Given the description of an element on the screen output the (x, y) to click on. 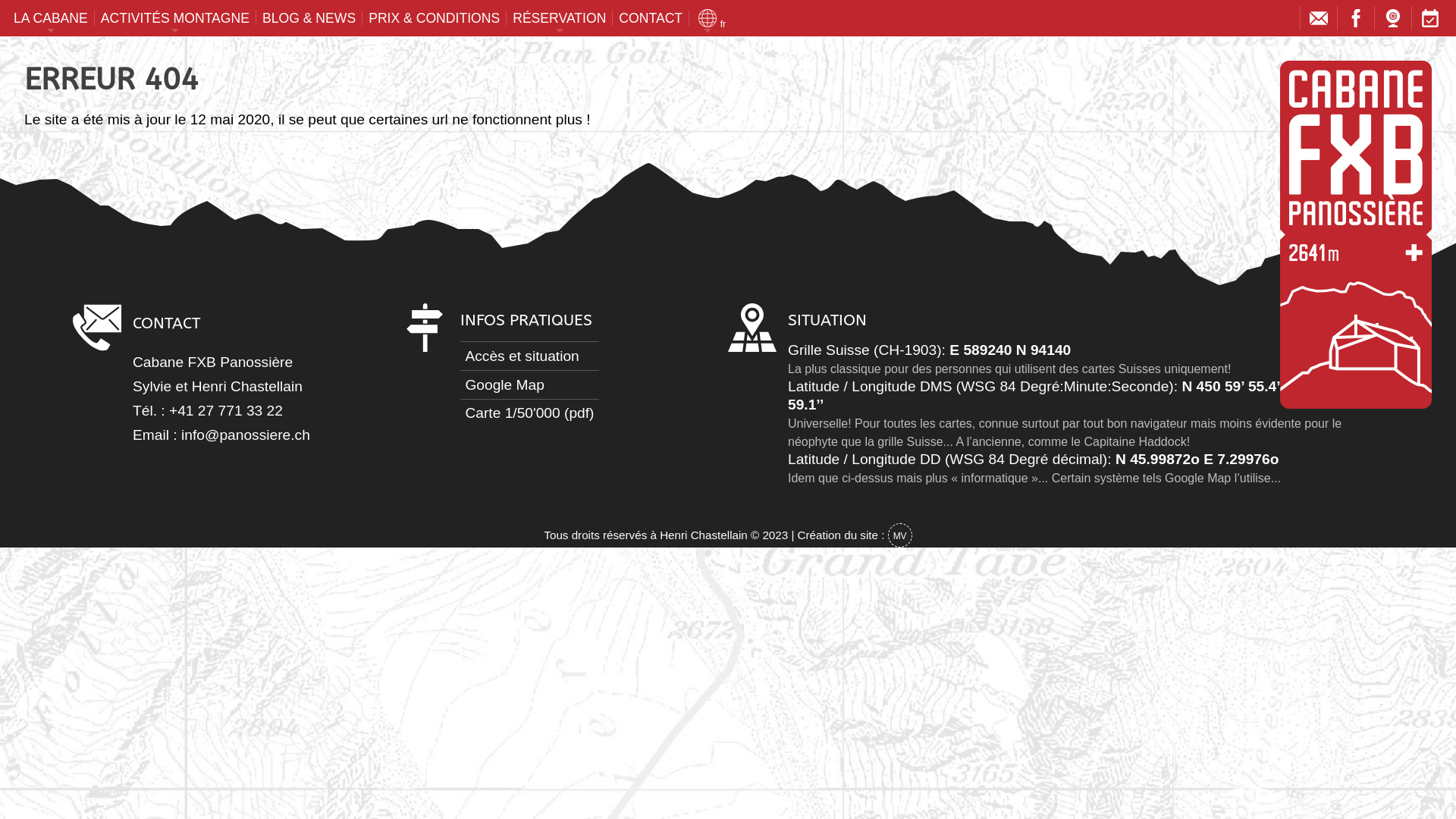
fr Element type: text (707, 18)
MV Element type: text (900, 535)
La webcam de la cabane Element type: hover (1392, 21)
info@panossiere.ch Element type: text (245, 434)
Carte 1/50'000 (pdf) Element type: text (529, 412)
PRIX & CONDITIONS Element type: text (434, 17)
BLOG & NEWS Element type: text (309, 17)
Google Map Element type: text (529, 384)
LA CABANE Element type: text (50, 17)
CONTACT Element type: text (650, 17)
Contacter le gardien Element type: hover (1318, 21)
Notre page Facebook Element type: hover (1355, 21)
+41 27 771 33 22 Element type: text (225, 410)
